Given the description of an element on the screen output the (x, y) to click on. 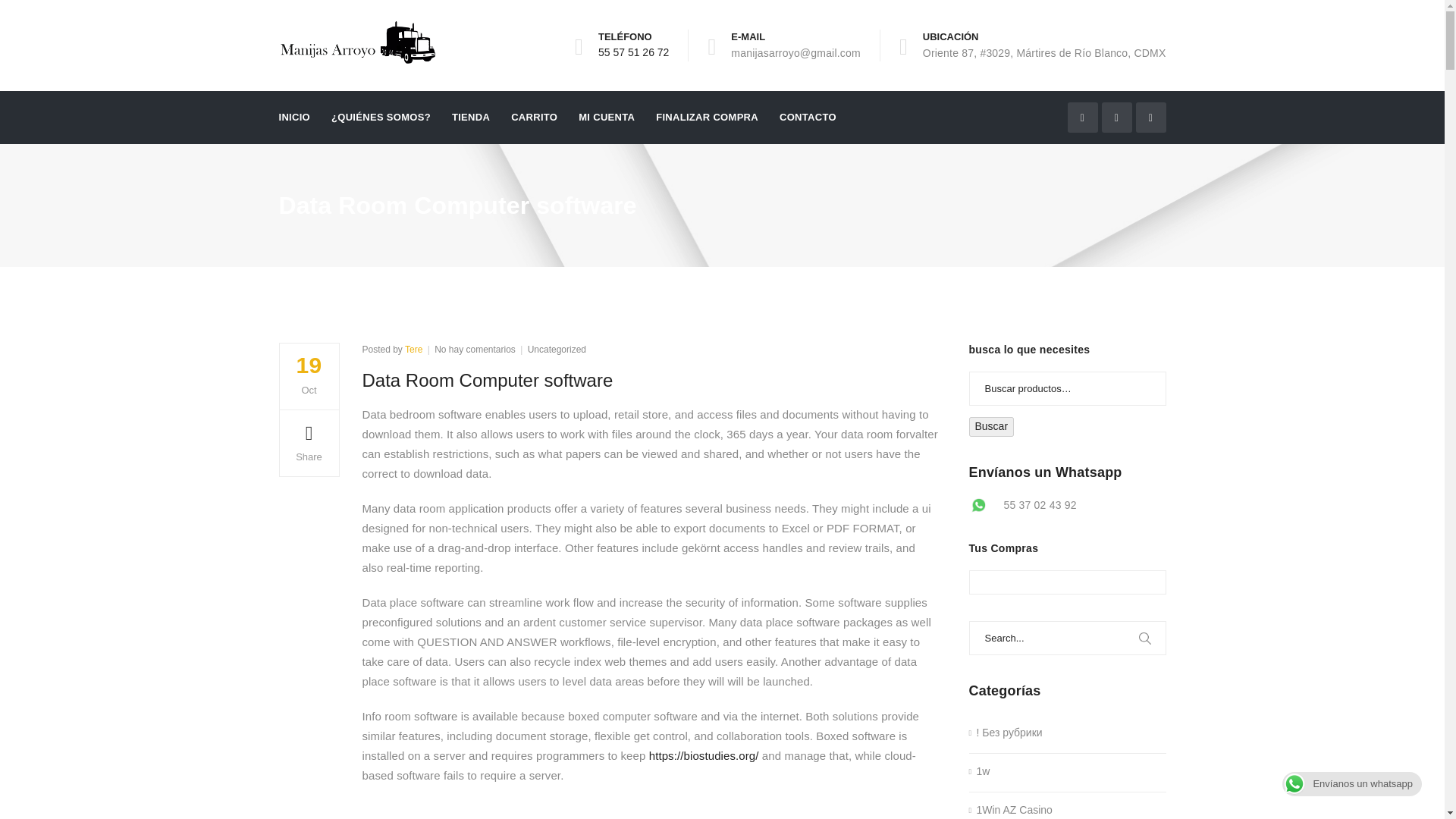
1w (979, 771)
Tere (474, 348)
FINALIZAR COMPRA (413, 348)
Buscar (707, 117)
MI CUENTA (991, 426)
Uncategorized (606, 117)
CONTACTO (556, 348)
55 57 51 26 72 (806, 117)
1Win AZ Casino (633, 51)
